Given the description of an element on the screen output the (x, y) to click on. 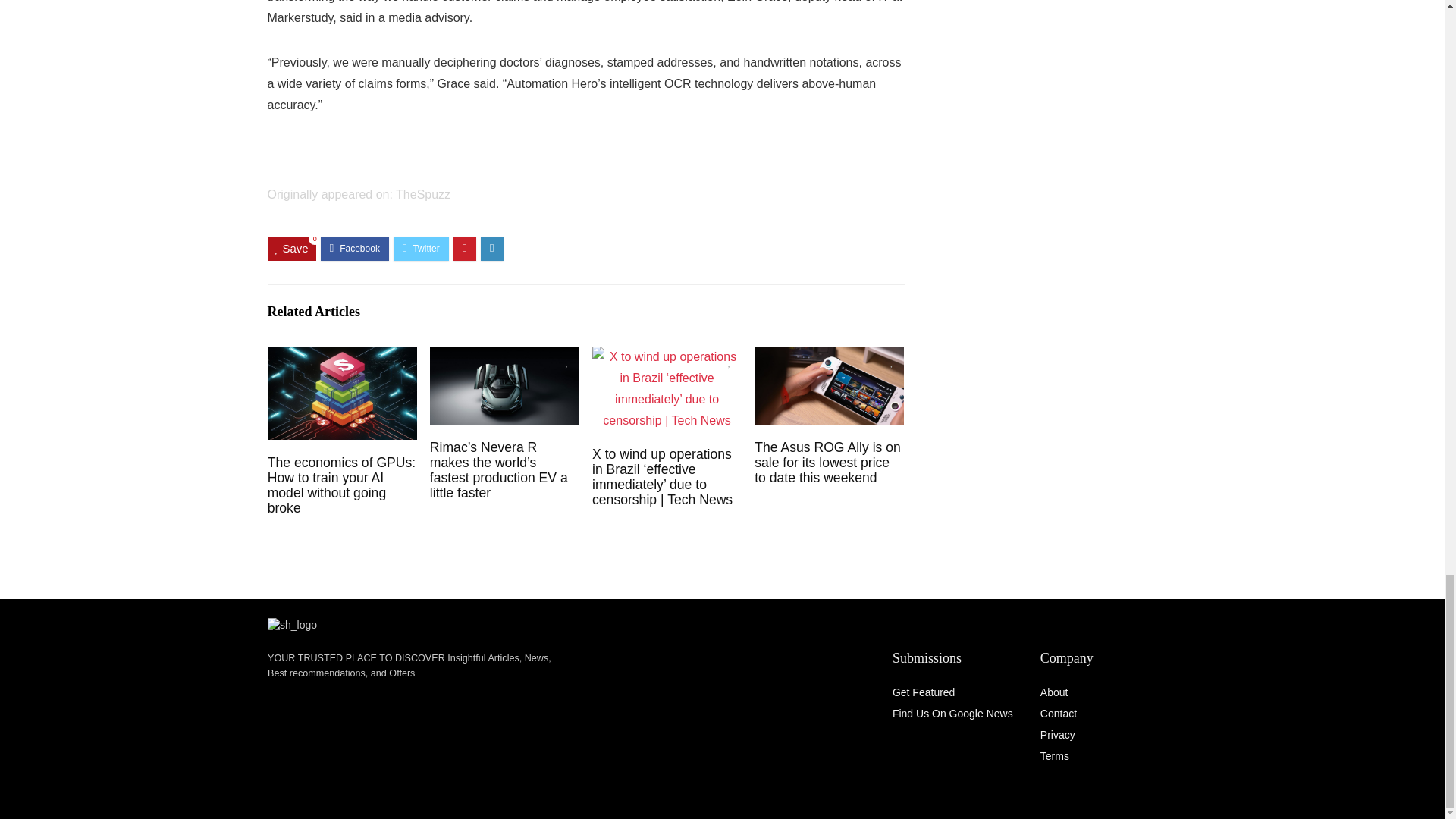
About (1054, 692)
Contact (1059, 713)
Terms (1054, 756)
TheSpuzz (422, 193)
Find Us On Google News (952, 713)
Get Featured (923, 692)
